Given the description of an element on the screen output the (x, y) to click on. 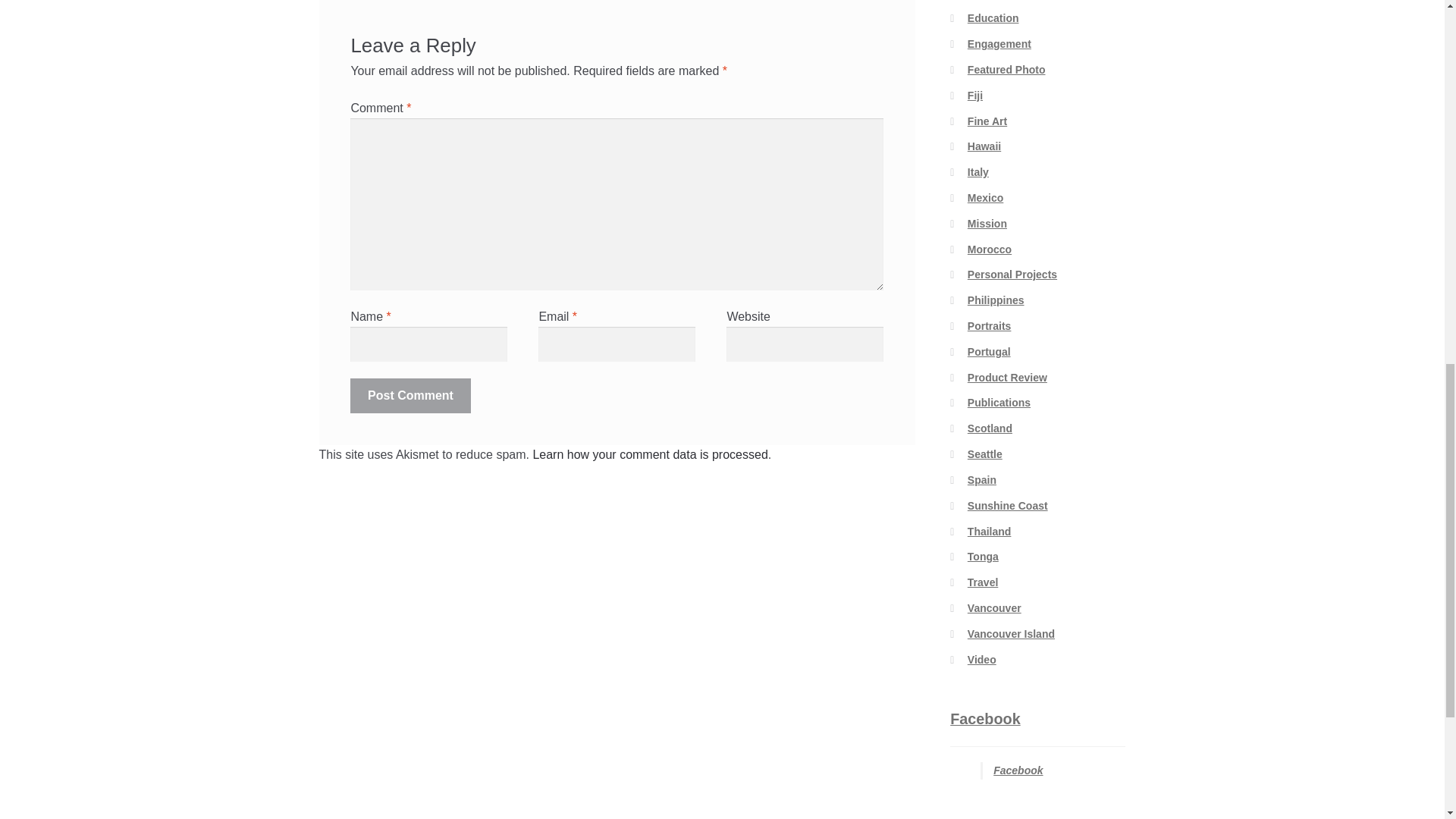
Learn how your comment data is processed (649, 454)
Post Comment (410, 395)
Post Comment (410, 395)
